Given the description of an element on the screen output the (x, y) to click on. 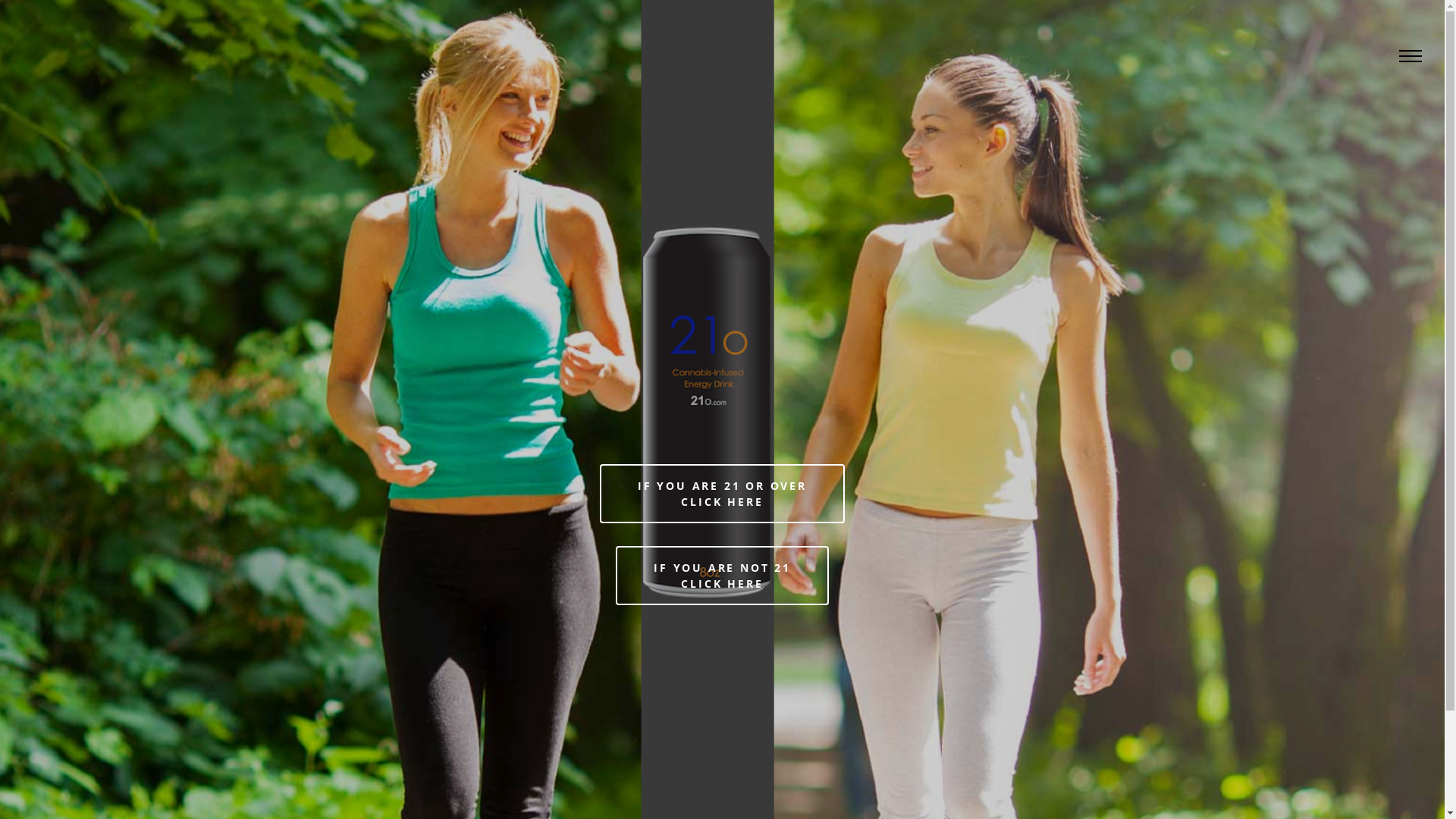
IF YOU ARE 21 OR OVER
CLICK HERE Element type: text (721, 493)
IF YOU ARE NOT 21
CLICK HERE Element type: text (721, 575)
